Given the description of an element on the screen output the (x, y) to click on. 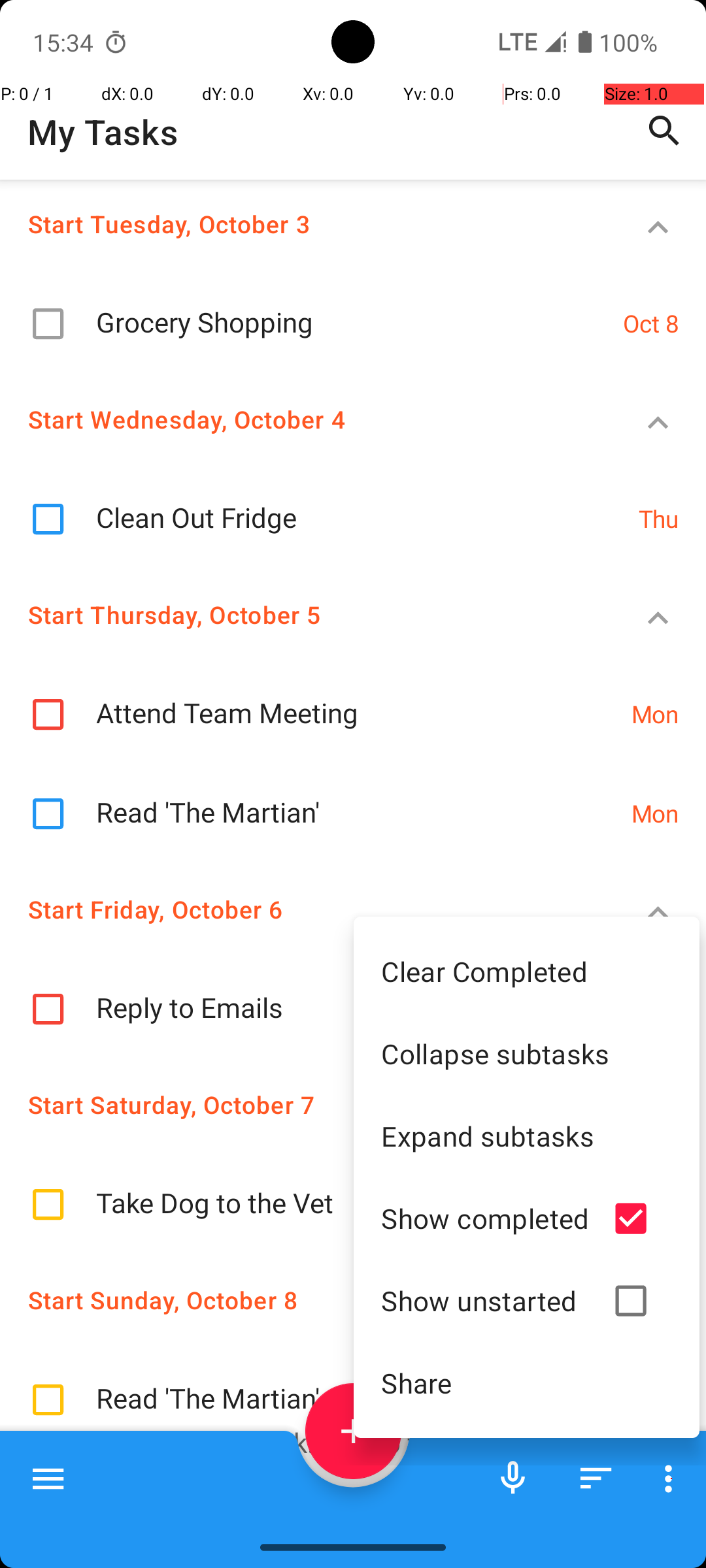
Clear Completed Element type: android.widget.TextView (526, 970)
Collapse subtasks Element type: android.widget.TextView (526, 1053)
Expand subtasks Element type: android.widget.TextView (526, 1135)
Show completed Element type: android.widget.TextView (485, 1217)
Show unstarted Element type: android.widget.TextView (485, 1300)
